Given the description of an element on the screen output the (x, y) to click on. 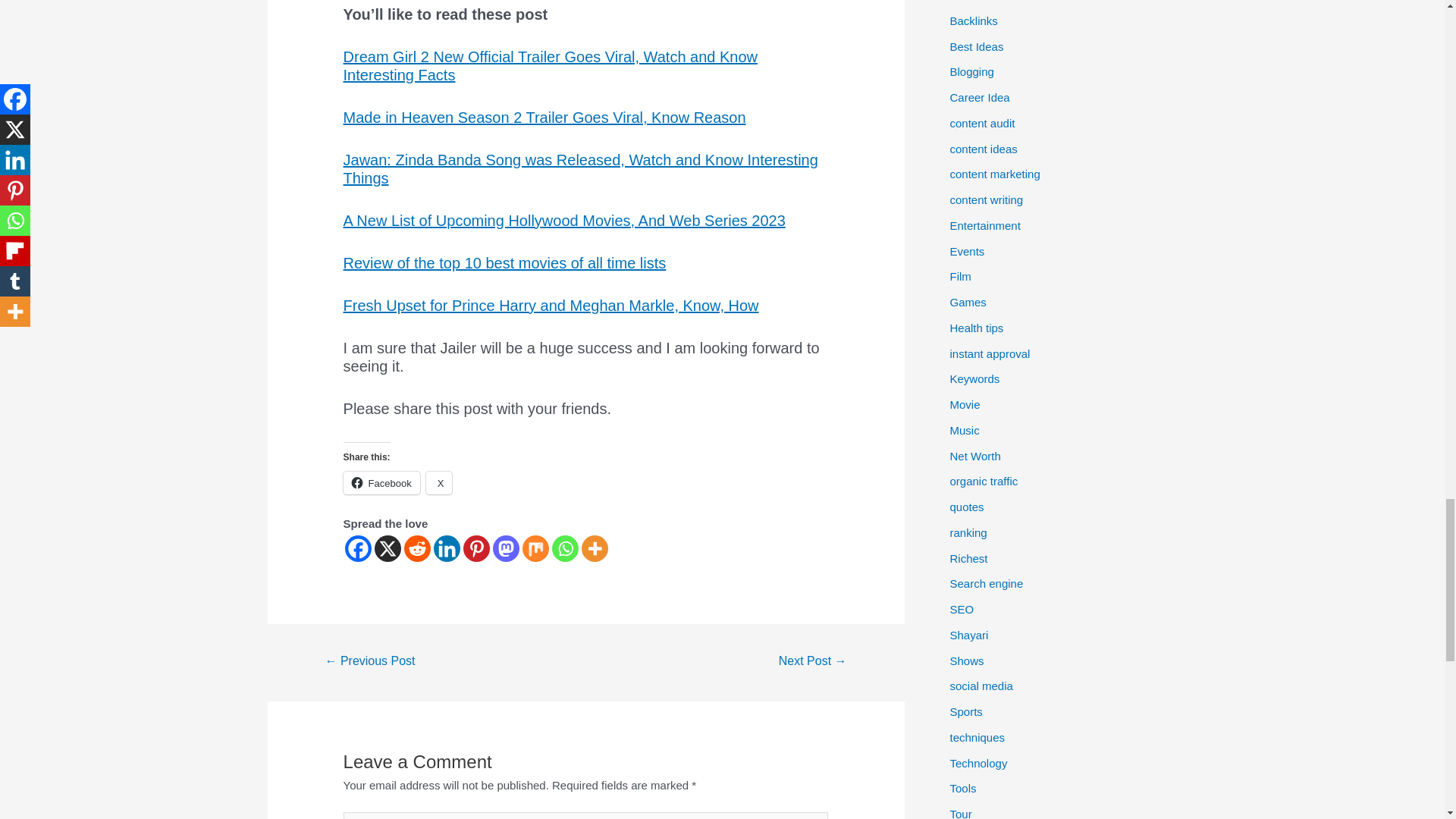
Made in Heaven Season 2 Trailer Goes Viral, Know Reason (544, 117)
A New List of Upcoming Hollywood Movies, And Web Series 2023 (564, 220)
Fresh Upset for Prince Harry and Meghan Markle, Know, How (550, 305)
Review of the top 10 best movies of all time lists (504, 262)
